Given the description of an element on the screen output the (x, y) to click on. 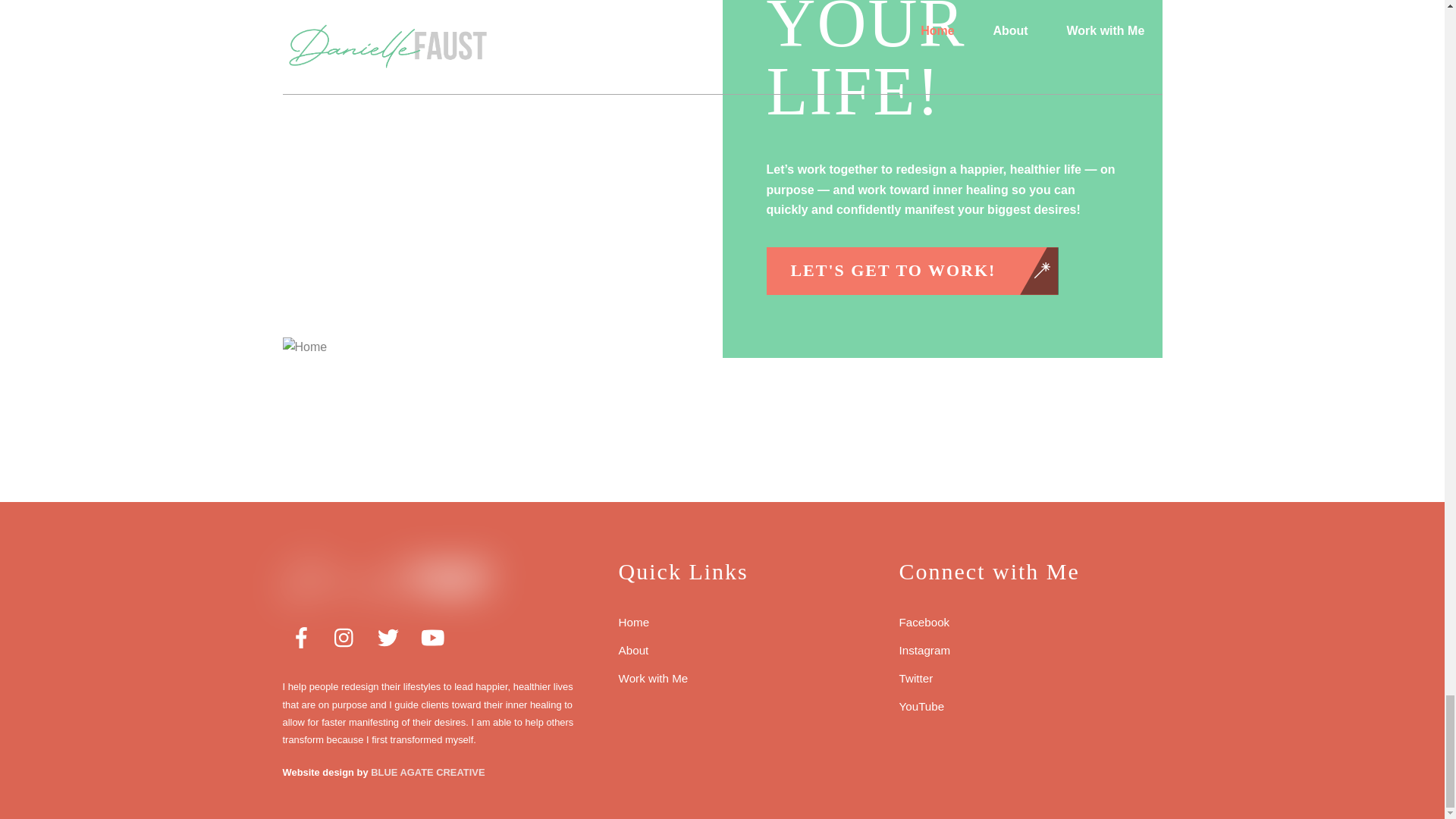
Danielle Faust (386, 596)
dani-wordmark-white (386, 579)
BLUE AGATE CREATIVE (427, 772)
Home (502, 347)
YouTube (921, 706)
Work with Me (653, 677)
Instagram (924, 649)
About (633, 649)
Twitter (916, 677)
LET'S GET TO WORK! (911, 270)
